Given the description of an element on the screen output the (x, y) to click on. 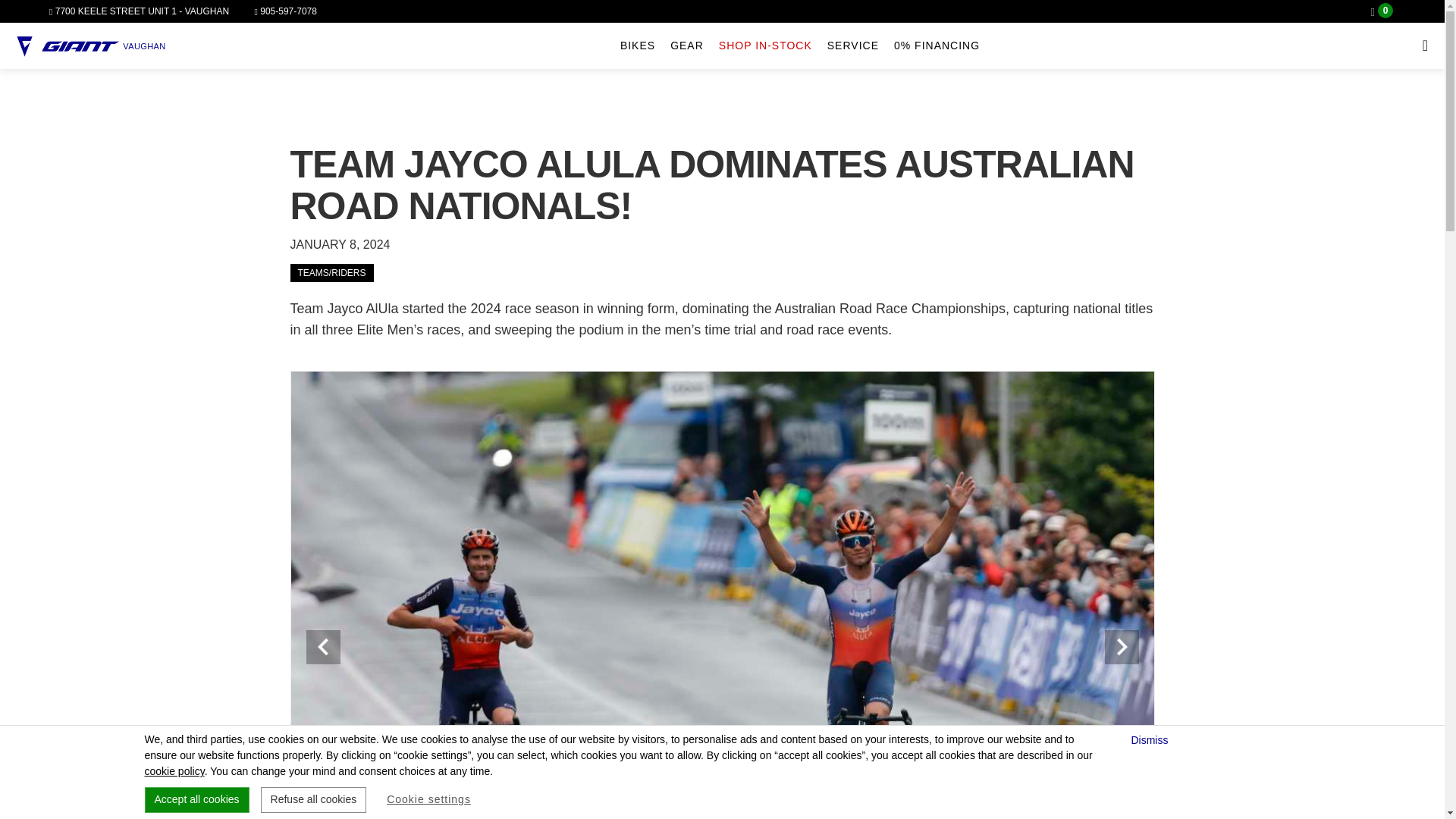
Cookie settings (428, 799)
Dismiss (1150, 740)
Accept all cookies (196, 800)
Refuse all cookies (313, 800)
cookie policy (173, 770)
